Given the description of an element on the screen output the (x, y) to click on. 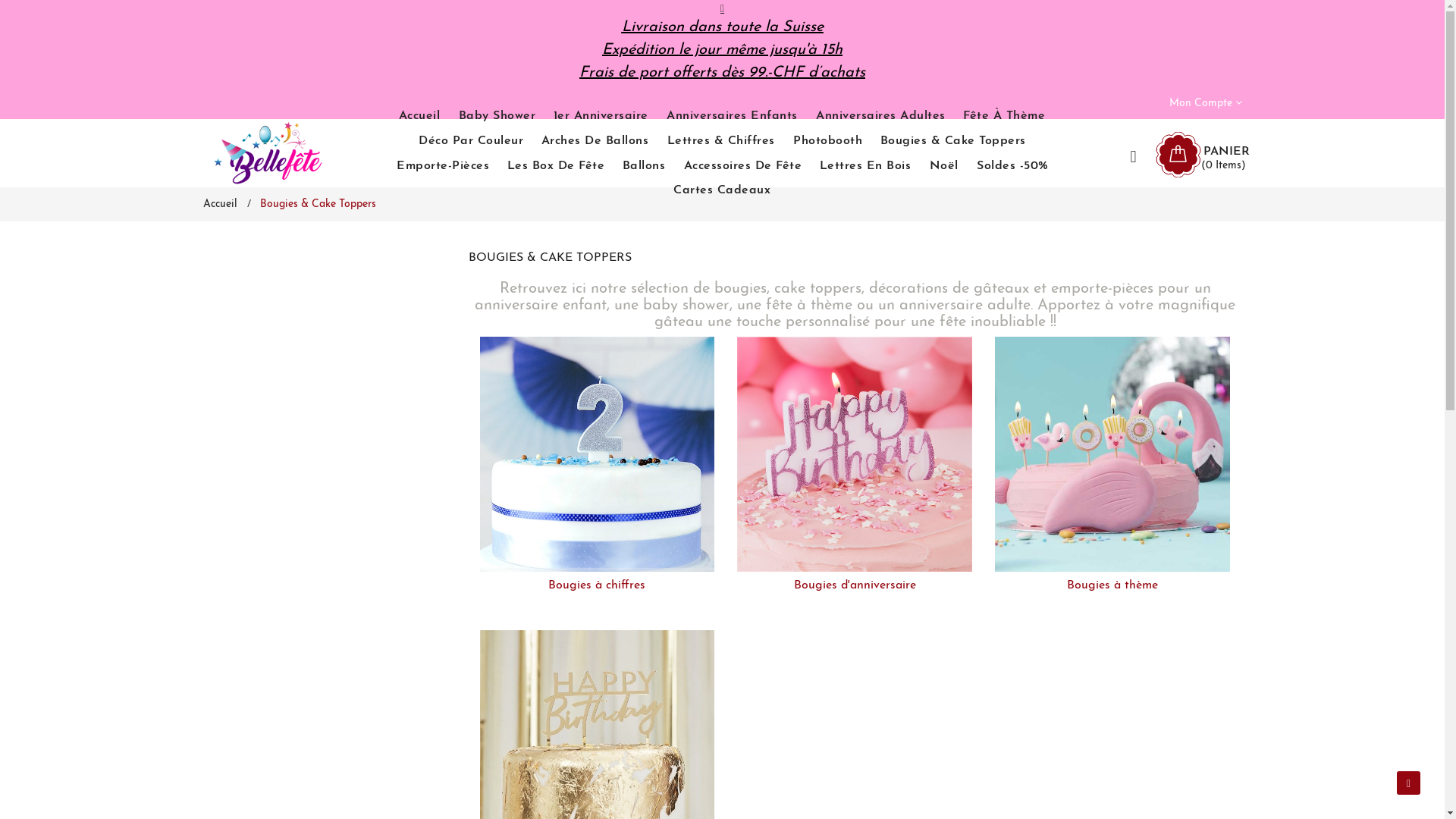
Cartes Cadeaux Element type: text (721, 190)
Bougies & Cake Toppers Element type: text (952, 140)
Cake Toppers Element type: hover (596, 750)
Lettres & Chiffres Element type: text (720, 140)
Bougies d'anniversaire Element type: text (854, 585)
Bougies d'anniversaire Element type: hover (854, 456)
Anniversaires Enfants Element type: text (731, 115)
Ballons Element type: text (644, 165)
Bougies & Cake Toppers Element type: text (317, 203)
Accueil Element type: text (220, 203)
Baby Shower Element type: text (497, 115)
Photobooth Element type: text (827, 140)
1er Anniversaire Element type: text (600, 115)
Lettres En Bois Element type: text (865, 165)
Arches De Ballons Element type: text (594, 140)
Soldes -50% Element type: text (1012, 165)
Accueil Element type: text (419, 115)
Anniversaires Adultes Element type: text (880, 115)
